Given the description of an element on the screen output the (x, y) to click on. 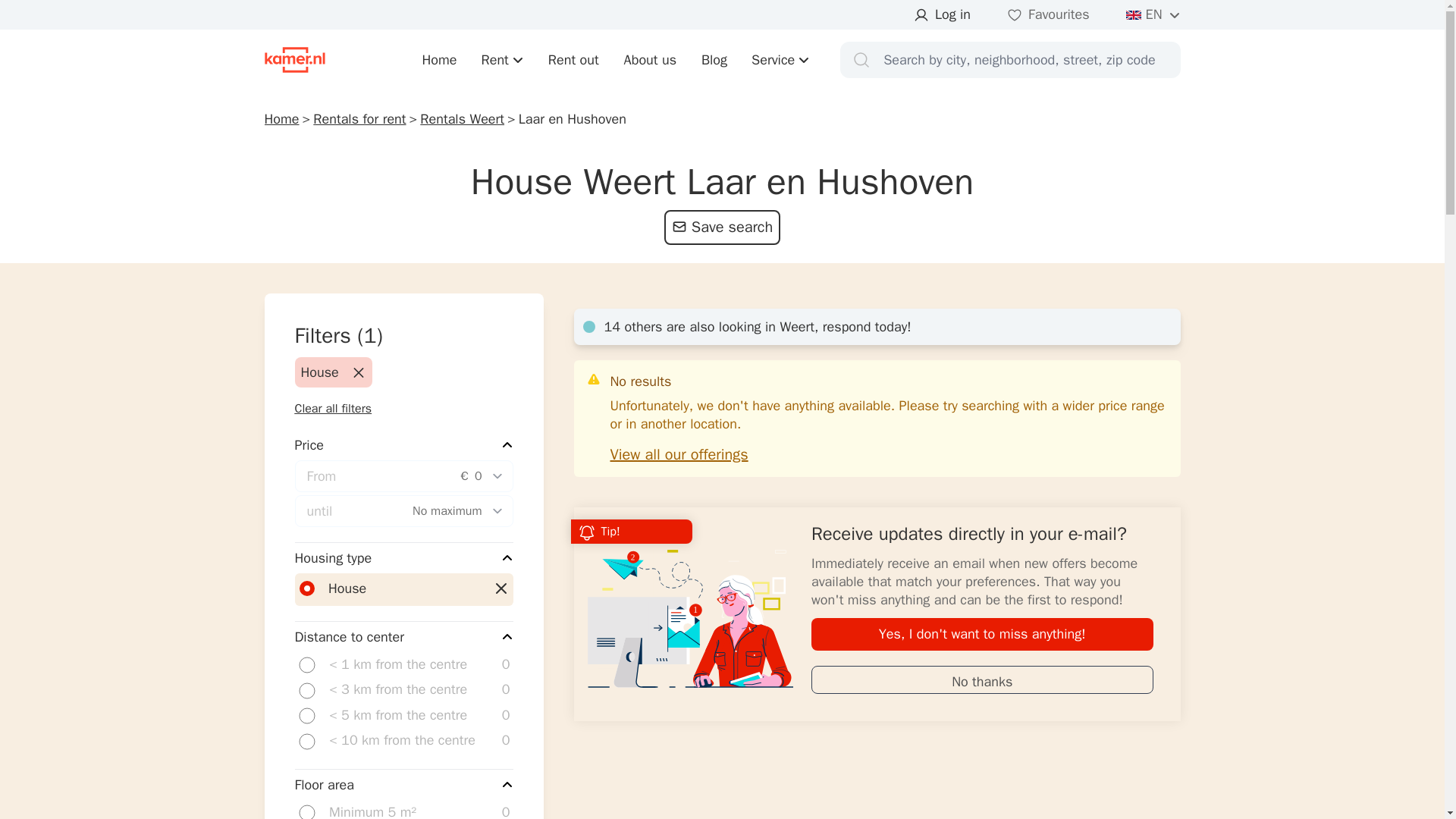
Rent (502, 59)
Favourites (1048, 14)
Blog (713, 59)
Service (780, 59)
About us (650, 59)
EN (1152, 14)
Rent out (573, 59)
Log in (942, 14)
Home (439, 59)
